Given the description of an element on the screen output the (x, y) to click on. 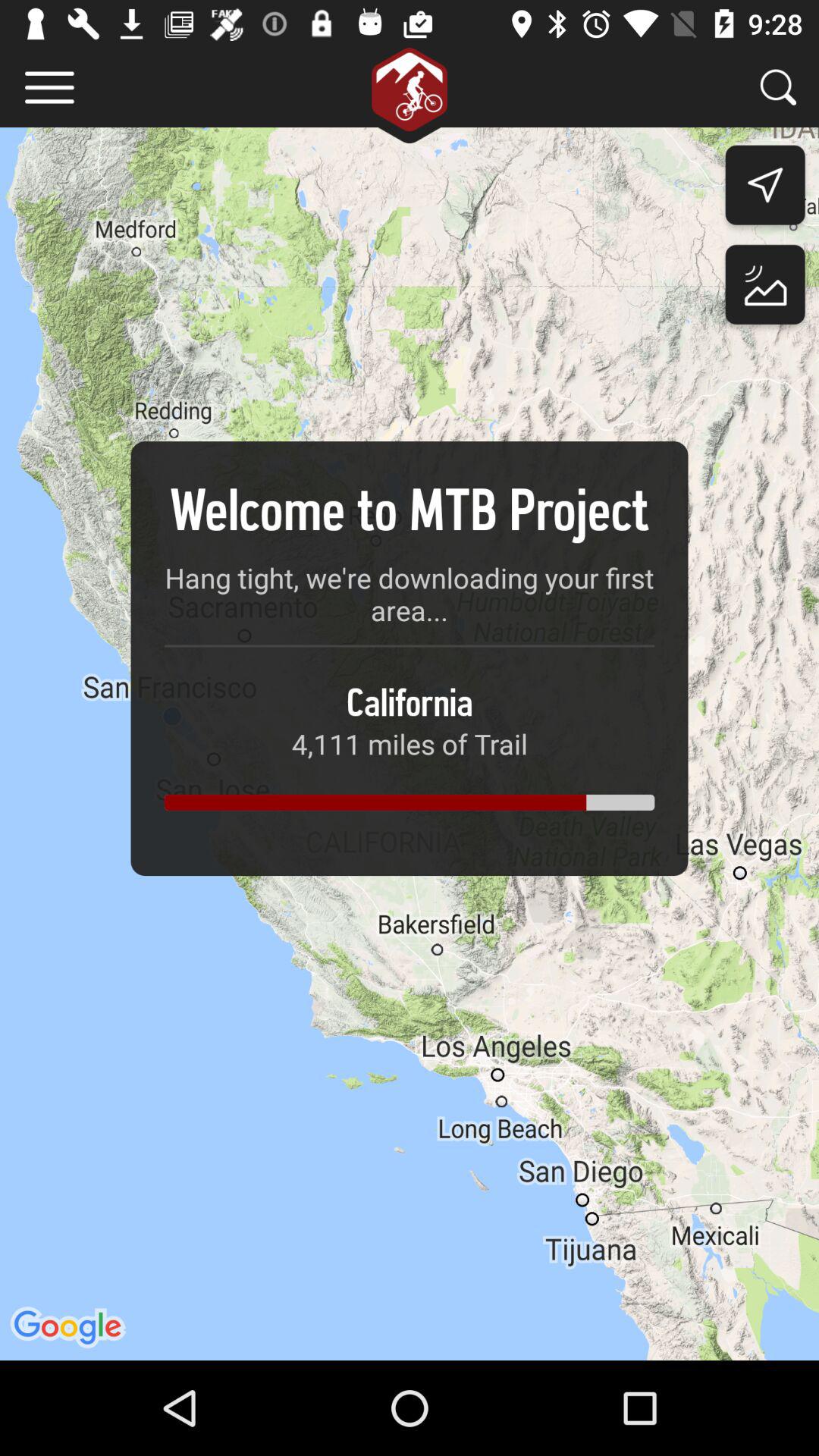
search button (778, 87)
